Given the description of an element on the screen output the (x, y) to click on. 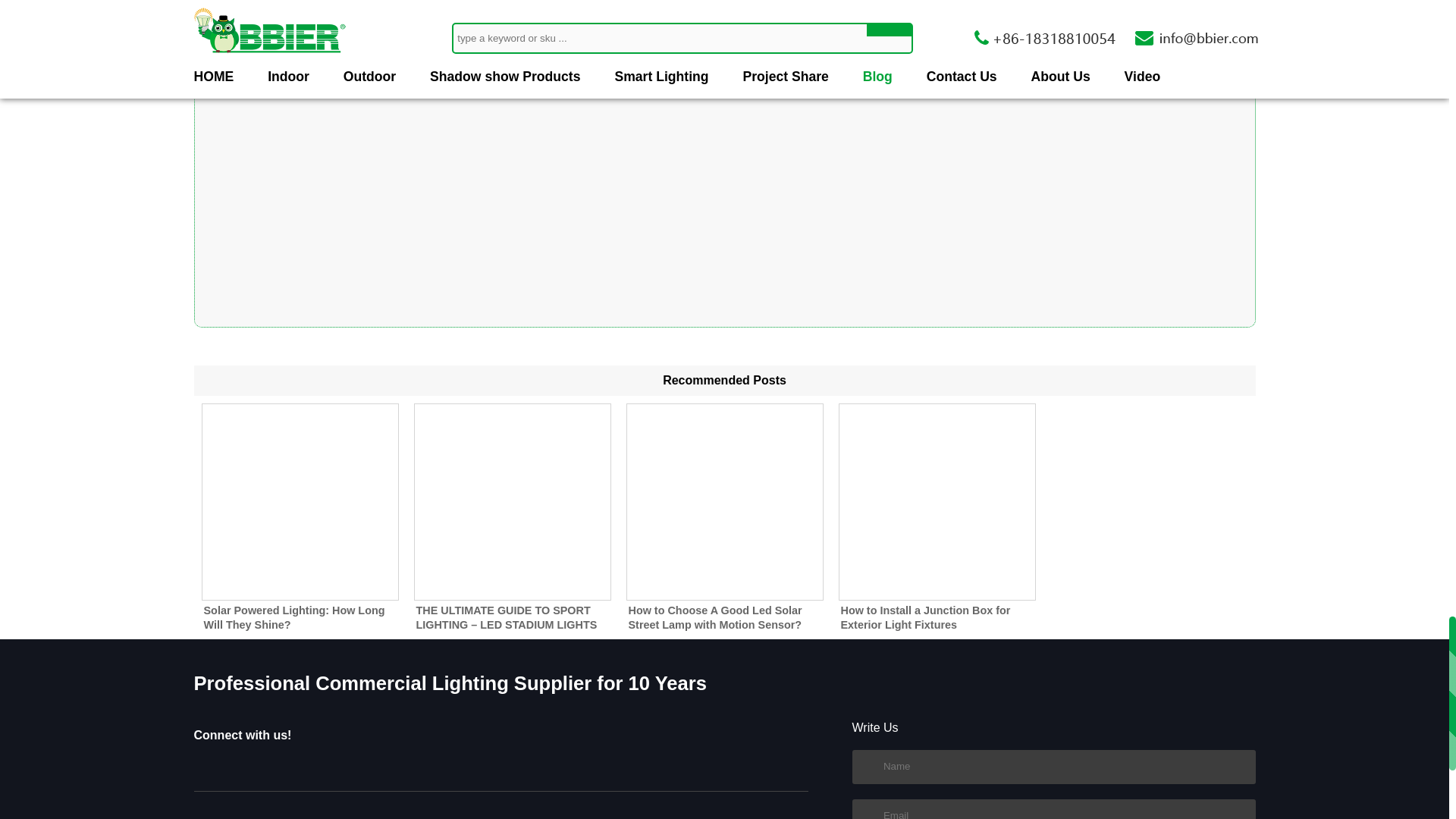
Solar Powered Lighting: How Long Will They Shine? (293, 617)
Solar Powered Lighting: How Long Will They Shine? (300, 501)
How to Install a Junction Box for Exterior Light Fixtures (925, 617)
How to Install a Junction Box for Exterior Light Fixtures (936, 501)
